Given the description of an element on the screen output the (x, y) to click on. 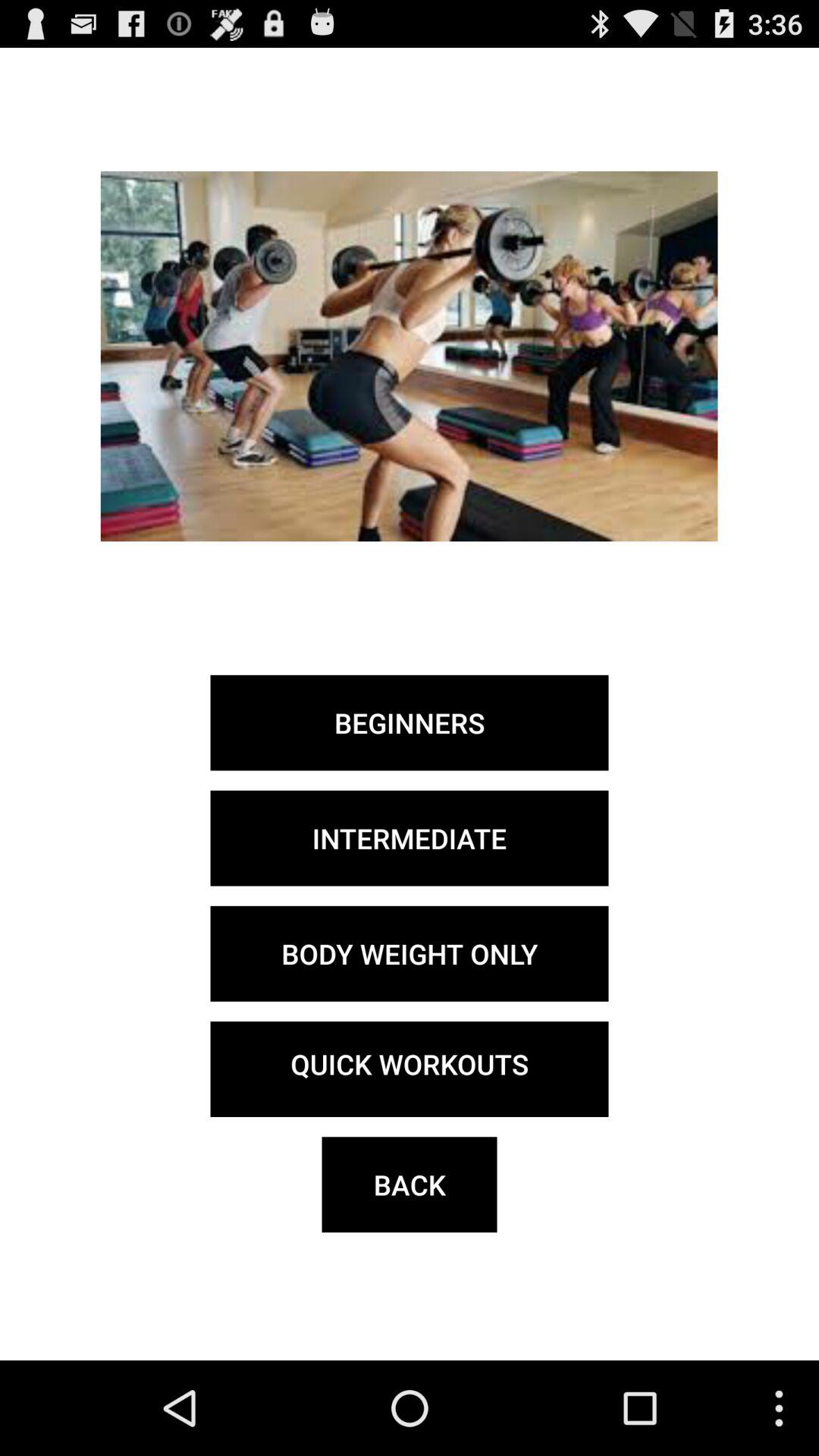
click the item below beginners button (409, 838)
